Given the description of an element on the screen output the (x, y) to click on. 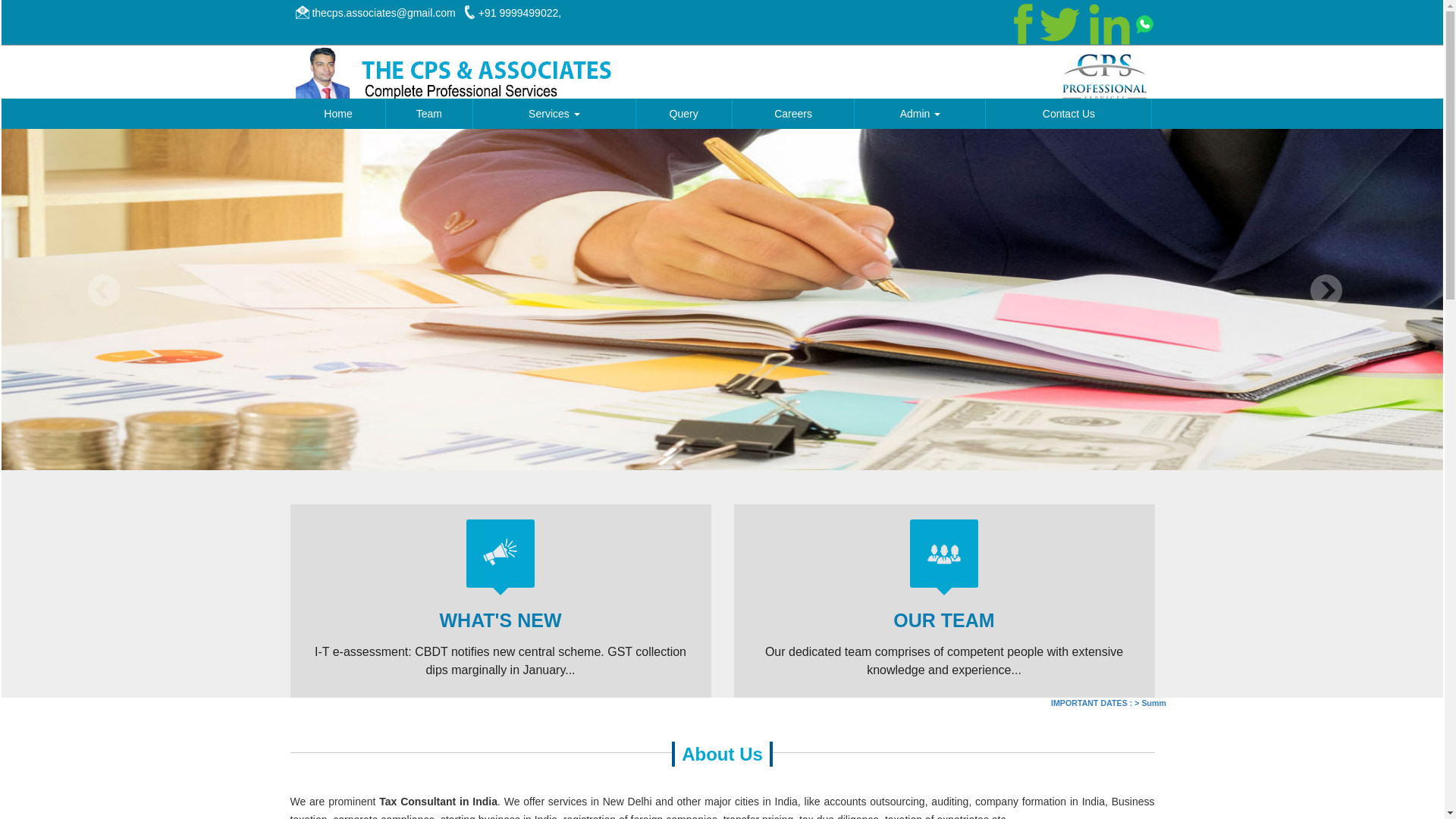
Next (1325, 290)
Query (682, 113)
OUR TEAM (943, 619)
Home (337, 113)
Team (429, 113)
Team (429, 113)
Contact Us (1068, 113)
Admin  (919, 113)
Services  (553, 113)
Careers (793, 113)
Previous (103, 290)
Query (682, 113)
Home (337, 113)
Careers (793, 113)
